Given the description of an element on the screen output the (x, y) to click on. 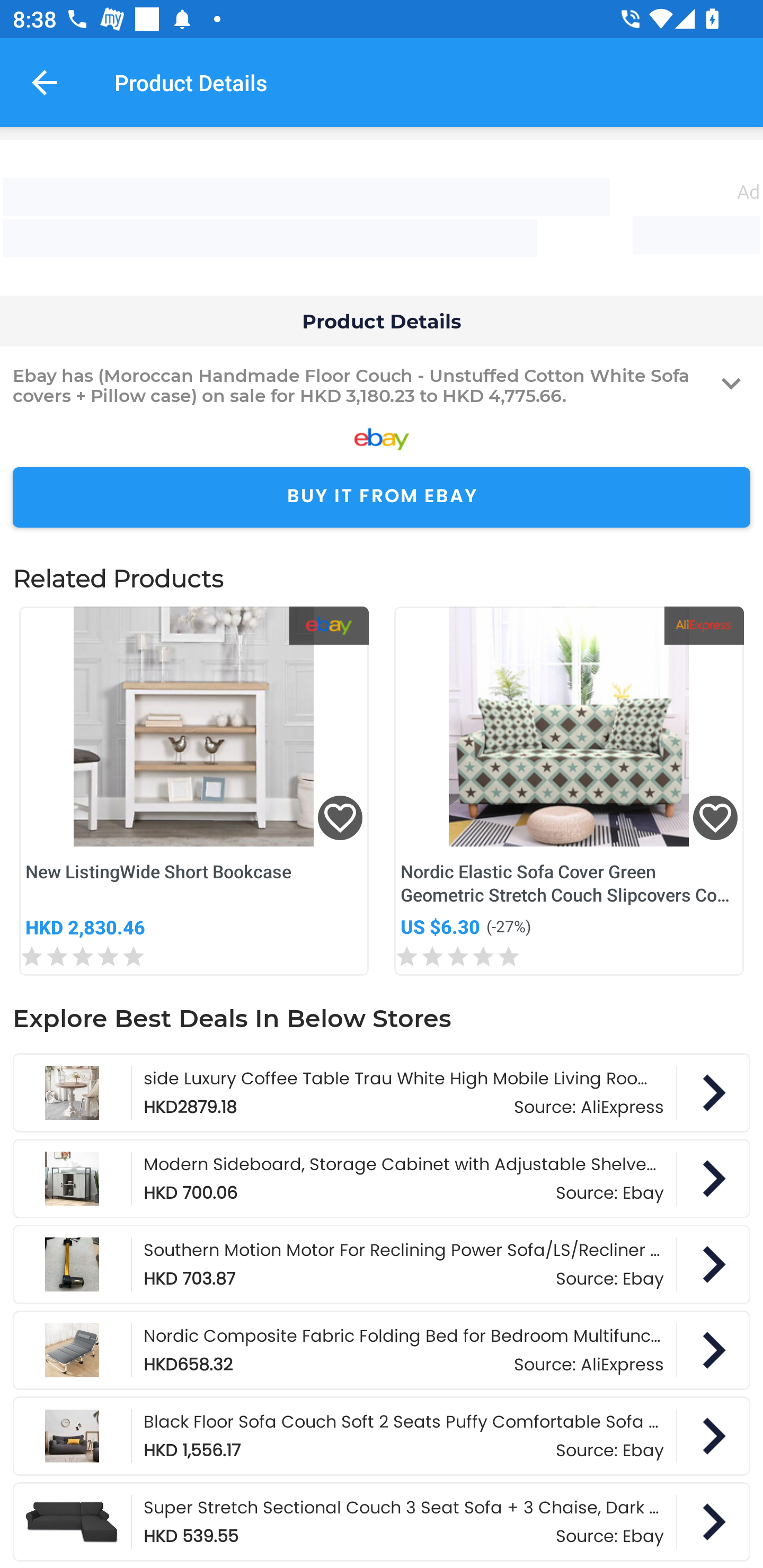
Navigate up (44, 82)
BUY IT FROM EBAY (381, 497)
New ListingWide Short Bookcase HKD 2,830.46 0.0 (193, 790)
